Given the description of an element on the screen output the (x, y) to click on. 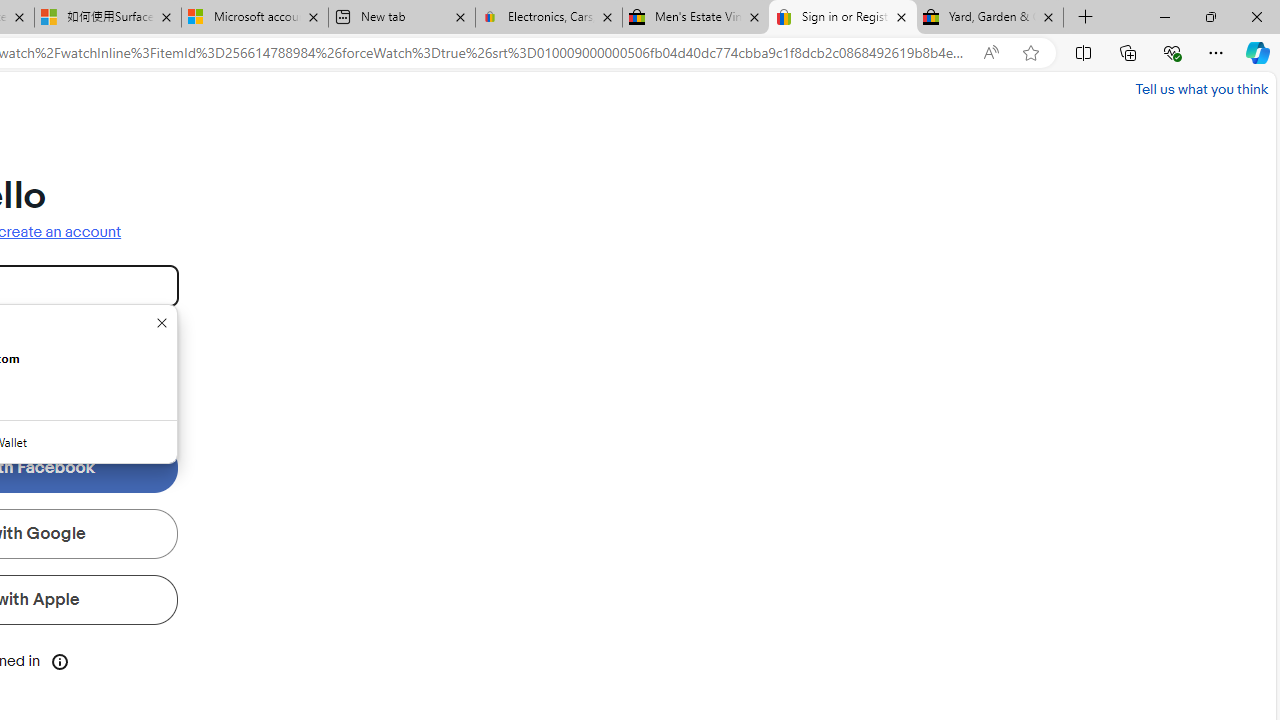
Sign in or Register | eBay (843, 17)
Class: icon-btn tooltip__host icon-btn--transparent (59, 660)
Don't show saved information (162, 322)
Tell us what you think - Link opens in a new window (1201, 88)
